Given the description of an element on the screen output the (x, y) to click on. 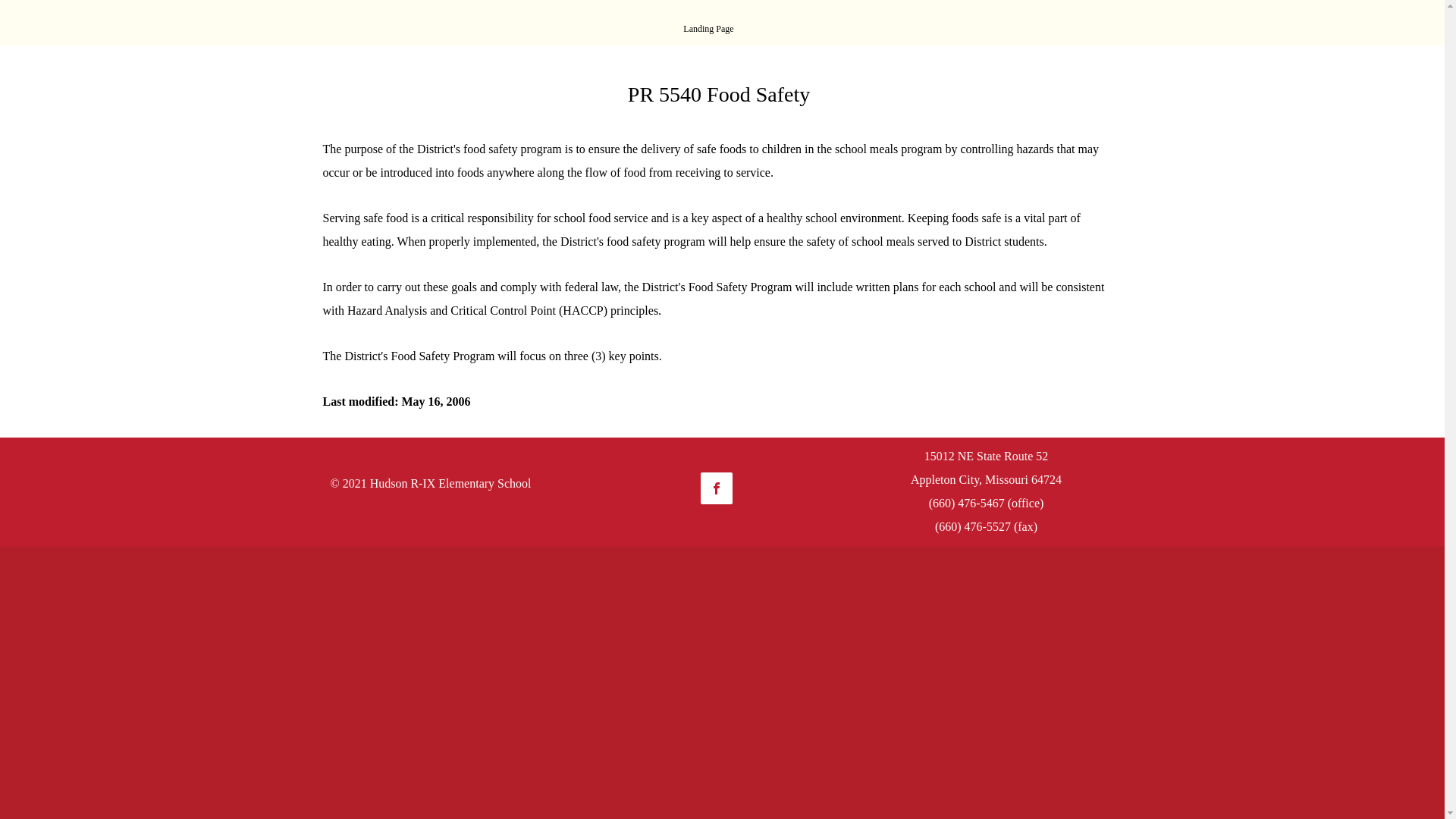
Landing Page (708, 29)
